Given the description of an element on the screen output the (x, y) to click on. 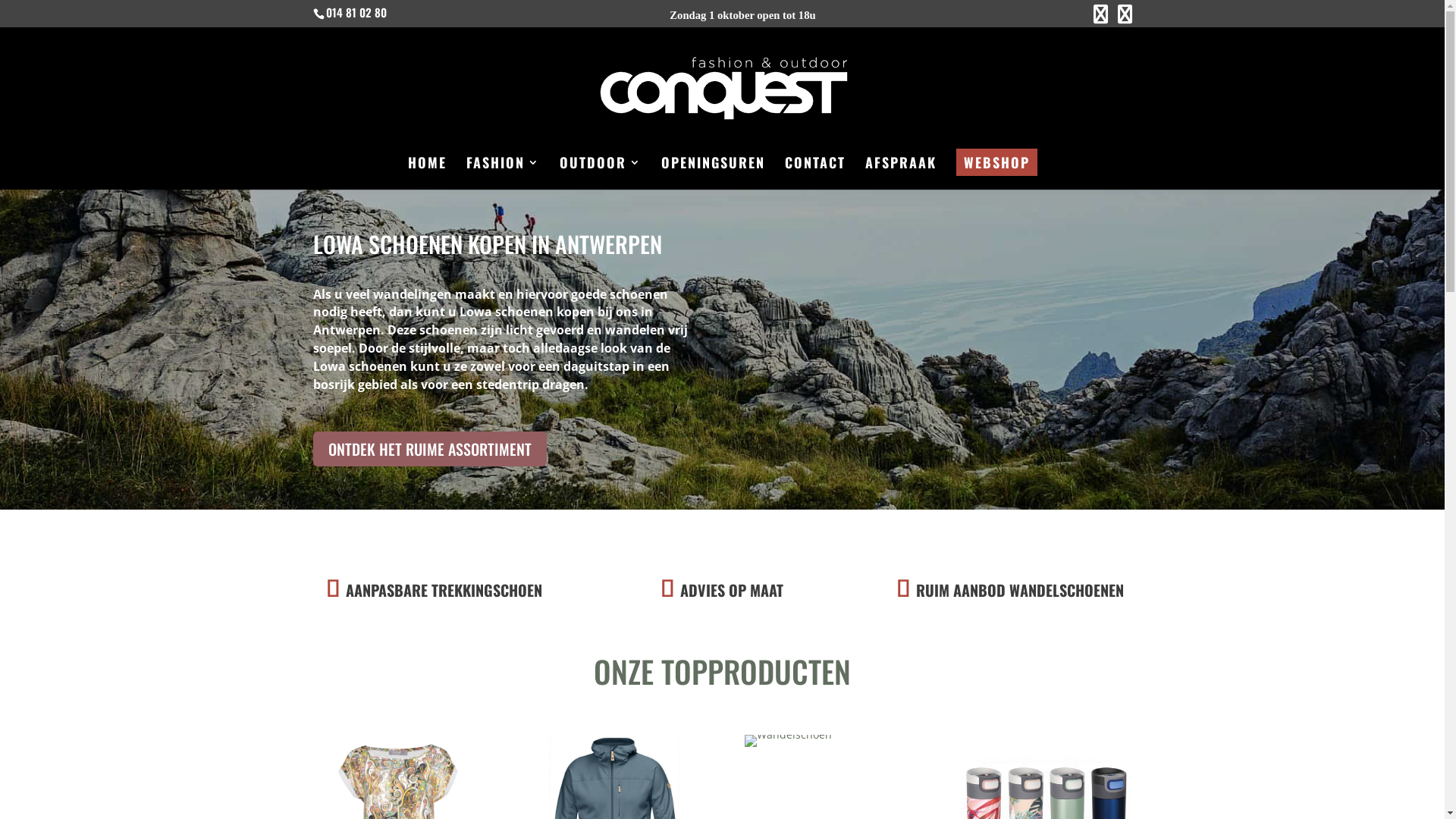
OPENINGSUREN Element type: text (713, 172)
WEBSHOP Element type: text (995, 161)
ONTDEK HET RUIME ASSORTIMENT Element type: text (428, 448)
OUTDOOR Element type: text (600, 172)
Wandelschoen bruin Element type: hover (787, 740)
AFSPRAAK Element type: text (899, 172)
CONTACT Element type: text (814, 172)
HOME Element type: text (426, 172)
FASHION Element type: text (502, 172)
